Given the description of an element on the screen output the (x, y) to click on. 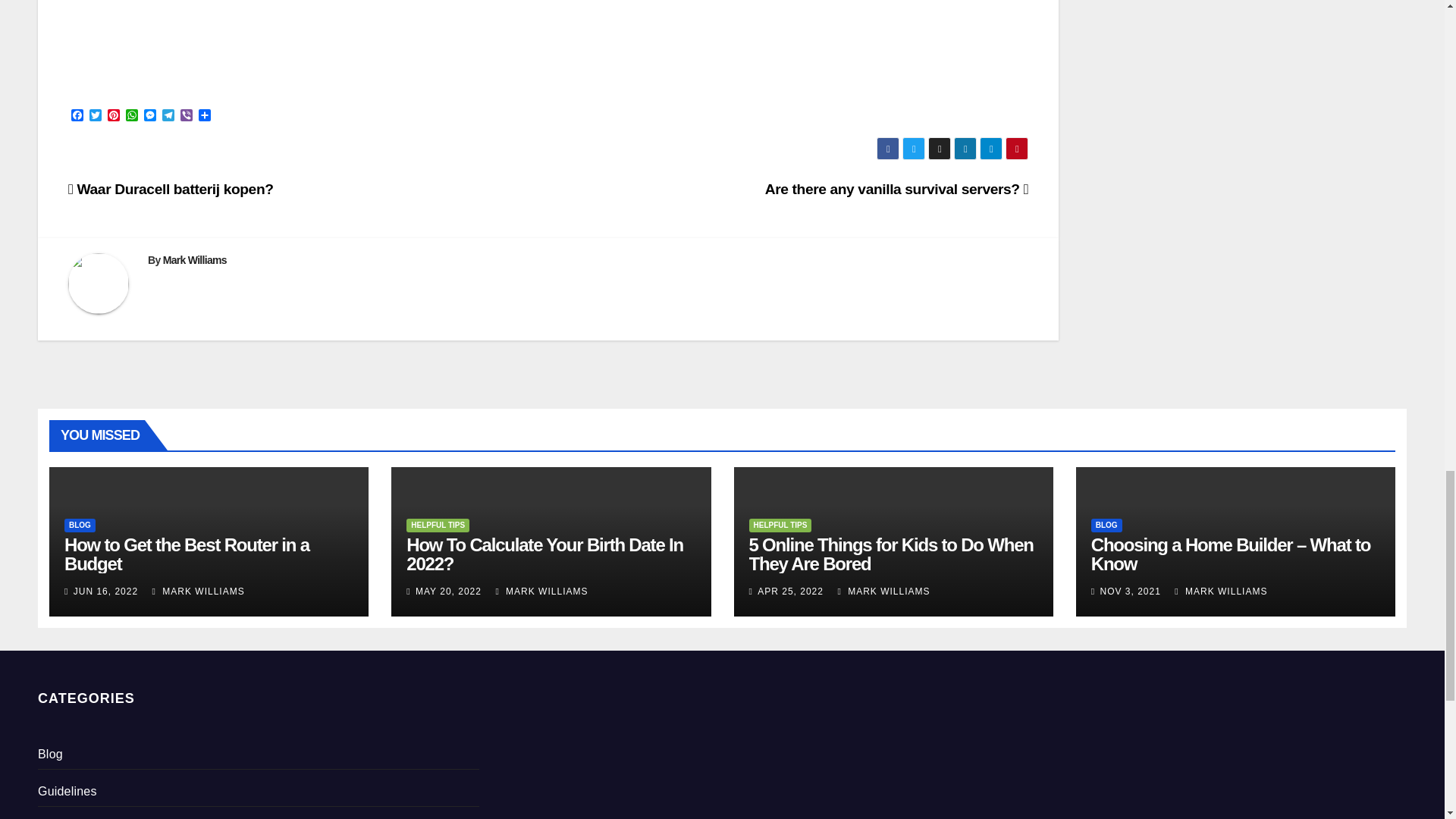
WhatsApp (131, 115)
Telegram (167, 115)
WhatsApp (131, 115)
Messenger (149, 115)
Share (204, 115)
Messenger (149, 115)
Telegram (167, 115)
Waar Duracell batterij kopen? (170, 188)
Twitter (94, 115)
Pinterest (113, 115)
